Given the description of an element on the screen output the (x, y) to click on. 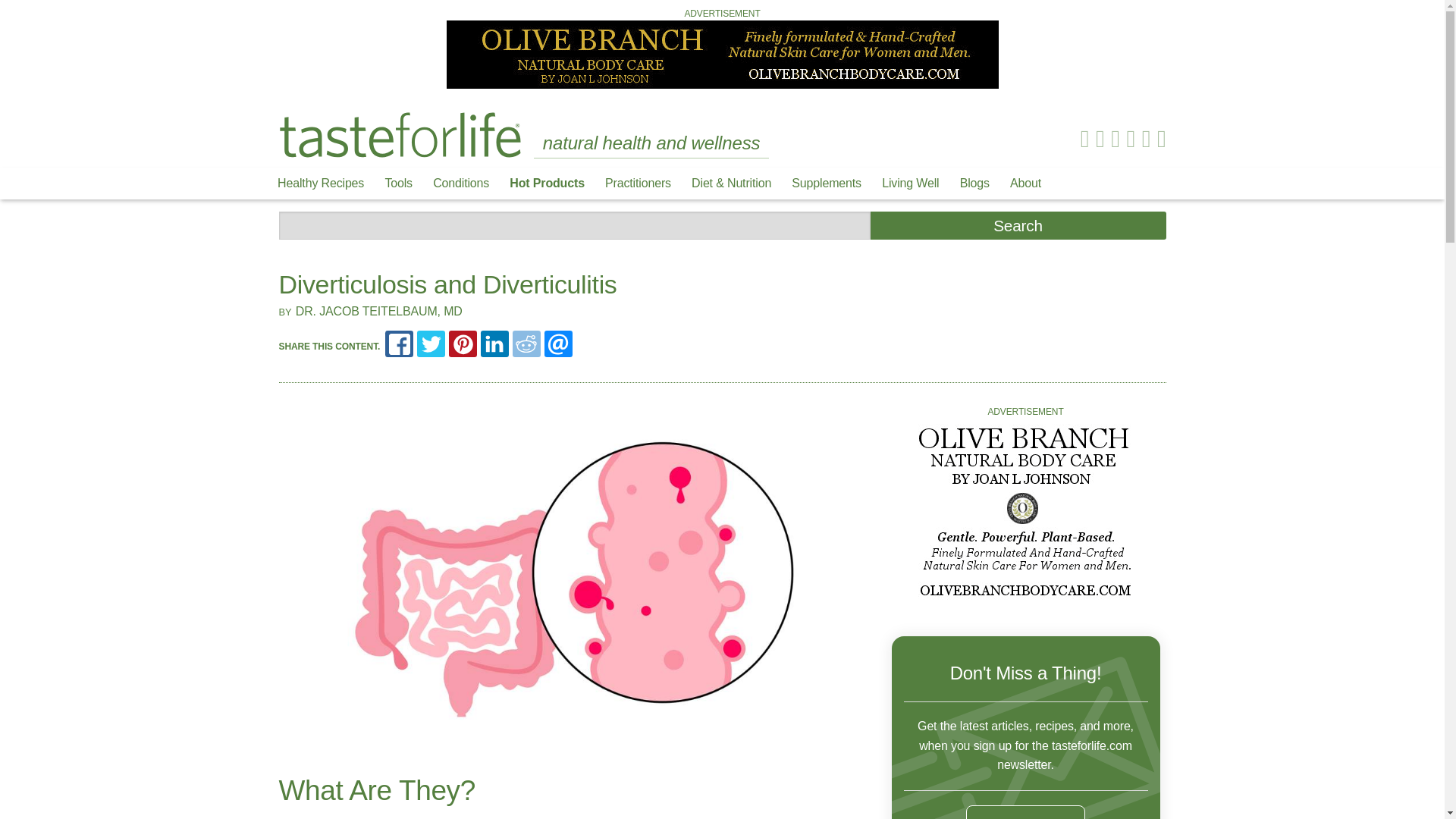
 Home (400, 134)
Enter the terms you wish to search for. (574, 225)
 Home (400, 133)
